Given the description of an element on the screen output the (x, y) to click on. 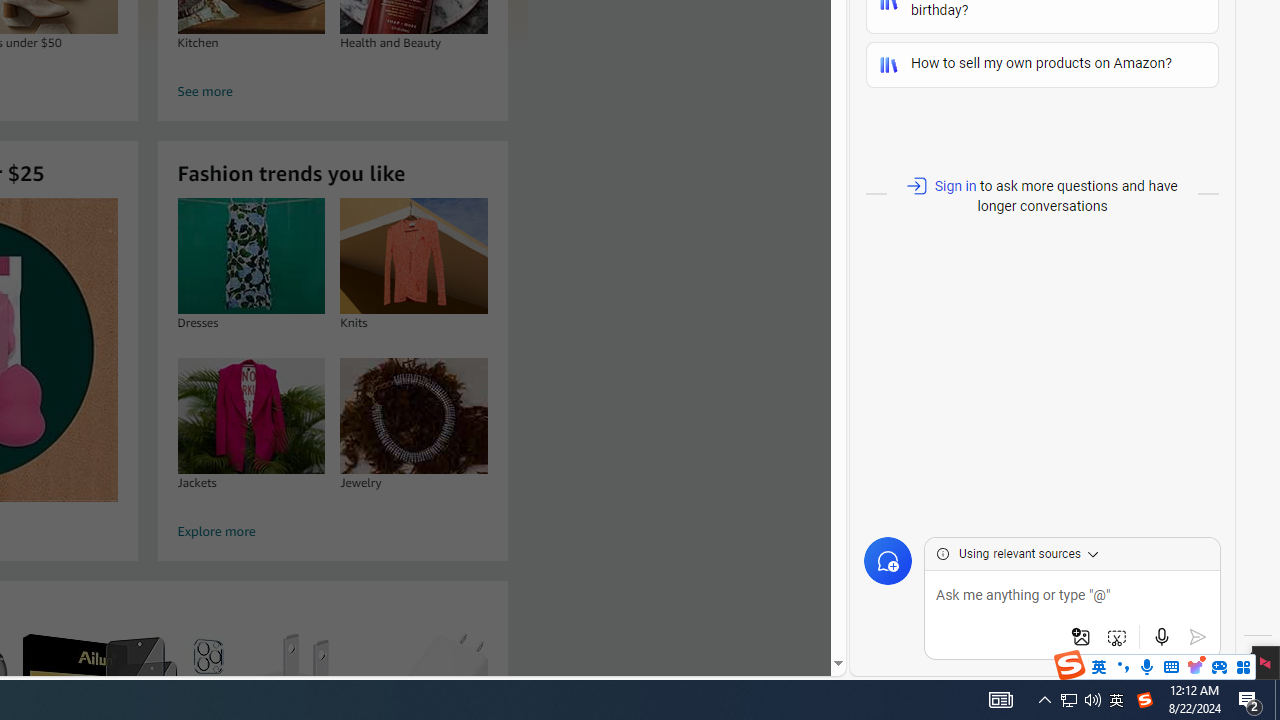
Explore more (331, 532)
Dresses (250, 256)
Jackets (250, 415)
Jewelry (413, 415)
Jewelry (413, 415)
Knits (413, 256)
Jackets (250, 415)
Dresses (250, 256)
Knits (413, 256)
